Given the description of an element on the screen output the (x, y) to click on. 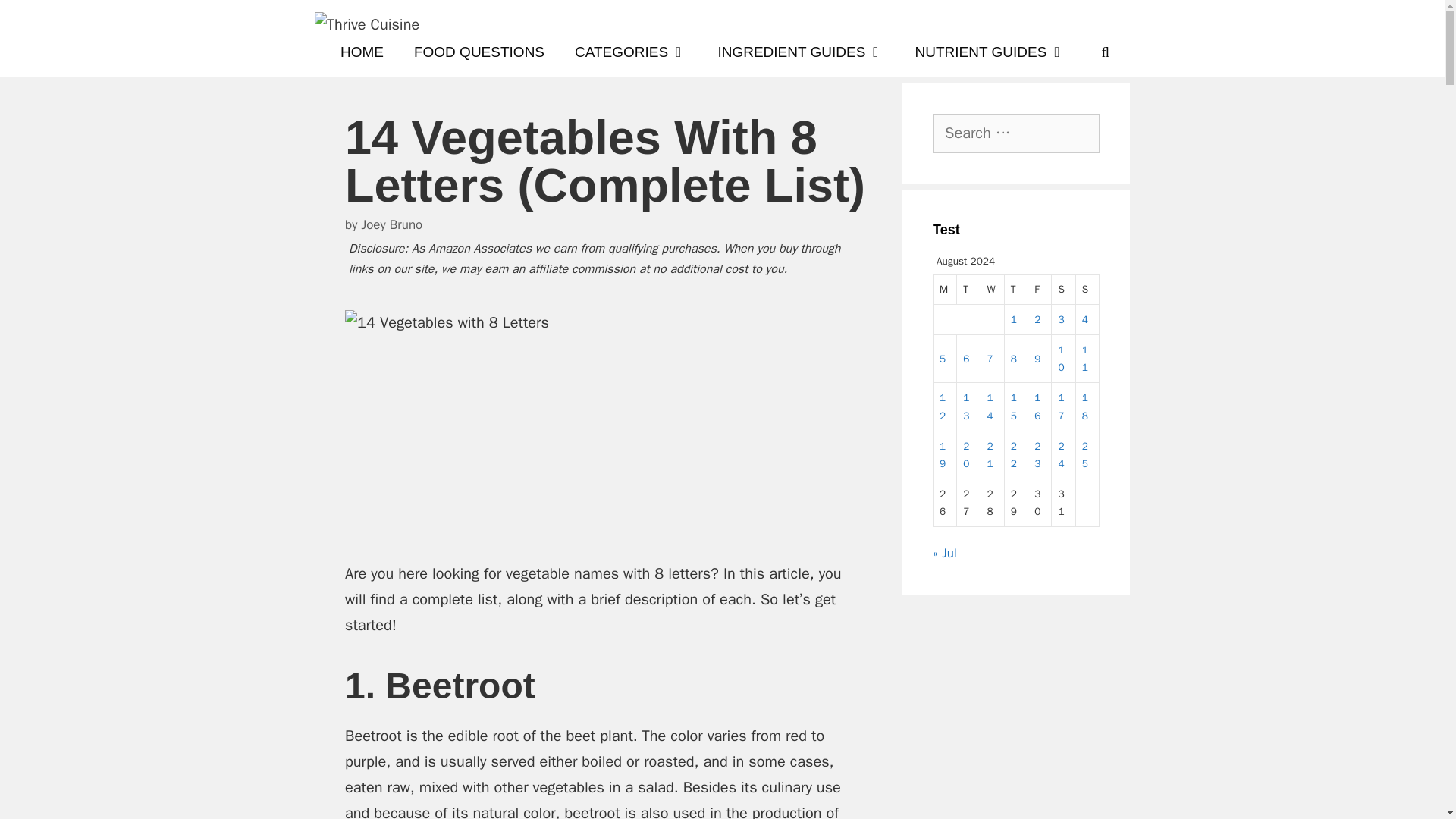
View all posts by Joey Bruno (391, 224)
FOOD QUESTIONS (478, 51)
Search for: (1016, 133)
CATEGORIES (630, 51)
HOME (361, 51)
